Given the description of an element on the screen output the (x, y) to click on. 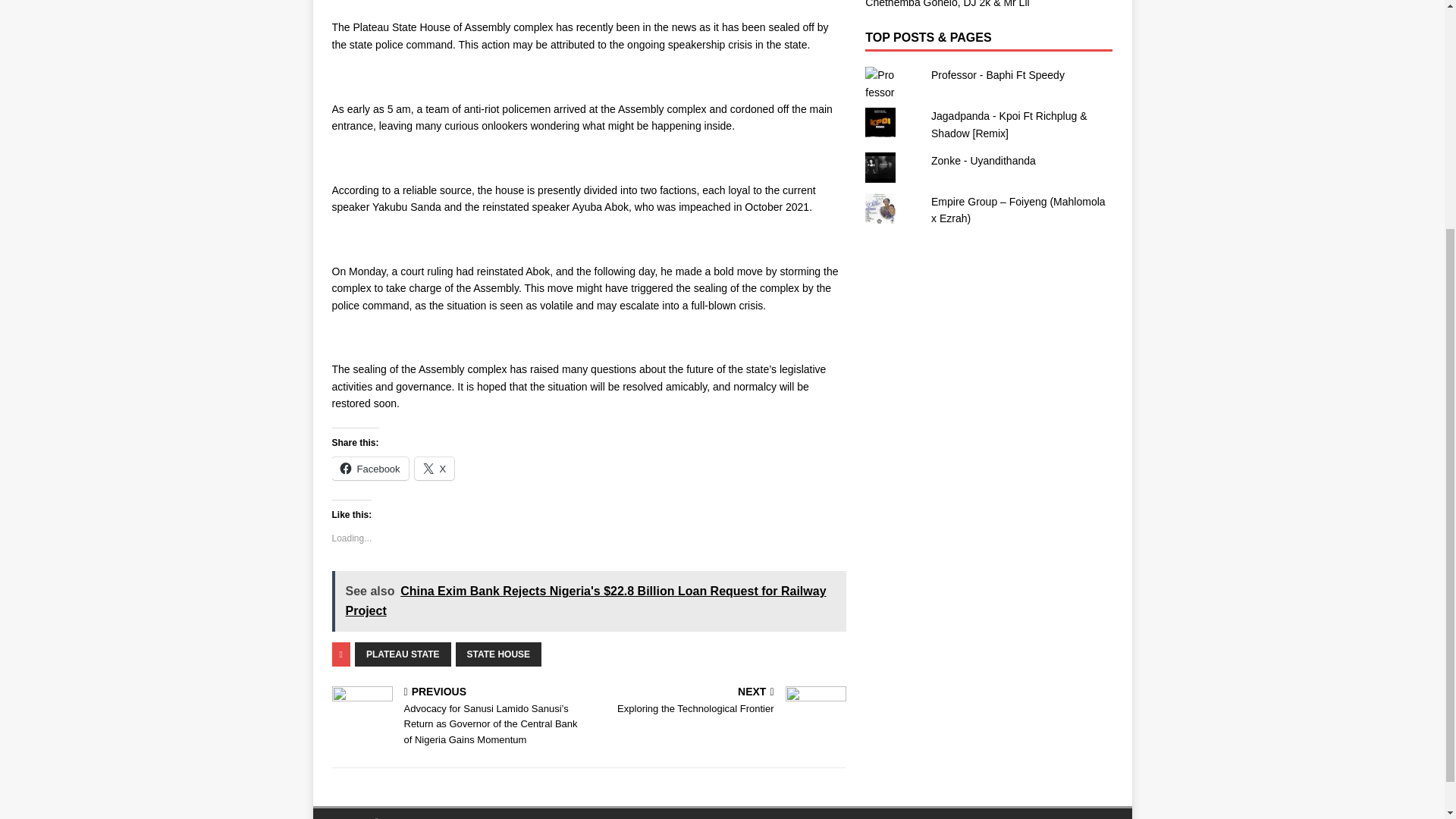
Zonke - Uyandithanda (983, 160)
STATE HOUSE (498, 654)
Click to share on X (434, 468)
PLATEAU STATE (720, 701)
Professor - Baphi Ft Speedy (403, 654)
Facebook (997, 74)
Click to share on Facebook (370, 468)
X (370, 468)
